Given the description of an element on the screen output the (x, y) to click on. 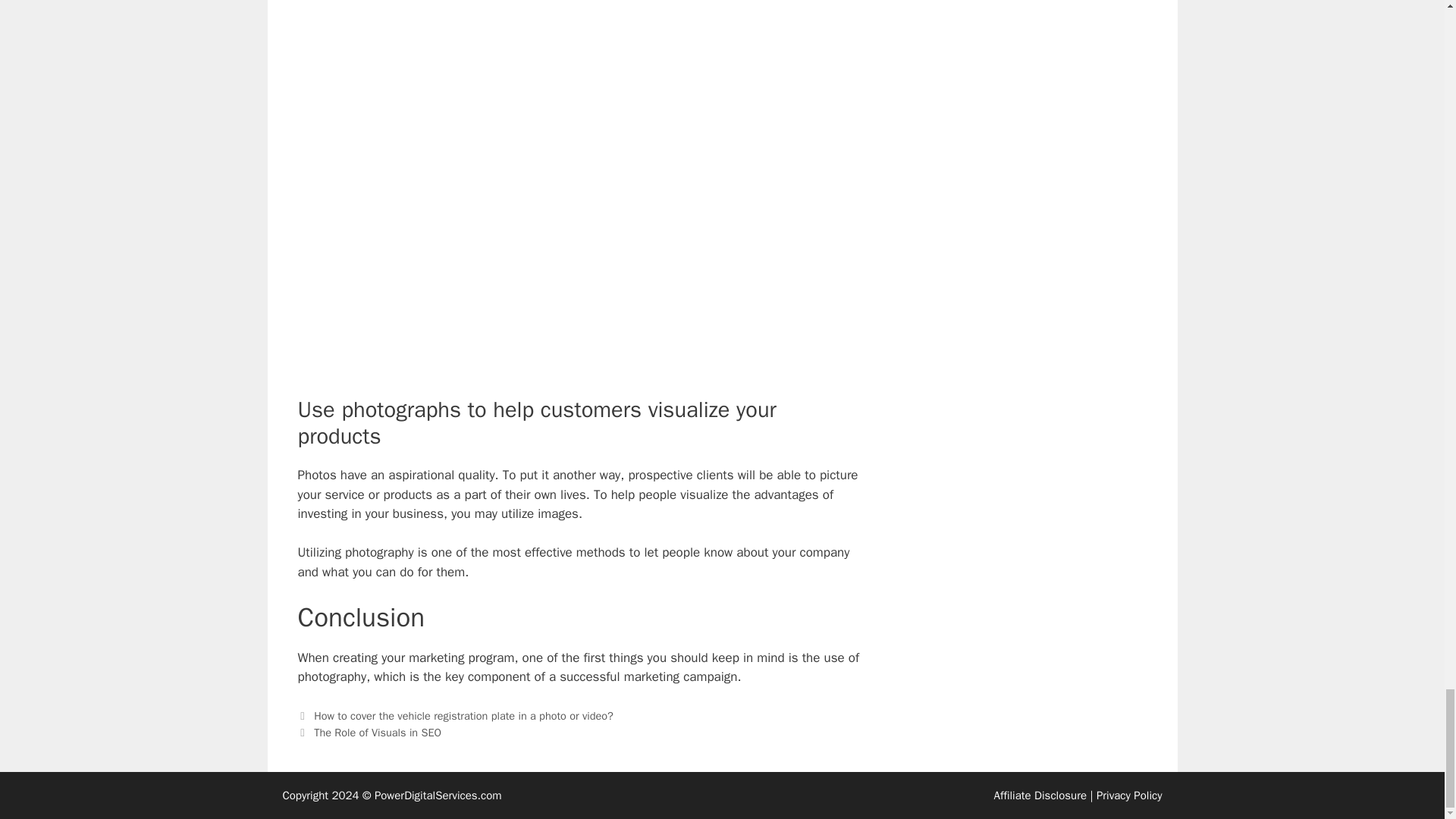
The Role of Visuals in SEO (377, 732)
Affiliate Disclosure (1039, 795)
Privacy Policy (1128, 795)
PowerDigitalServices.com (438, 795)
